Given the description of an element on the screen output the (x, y) to click on. 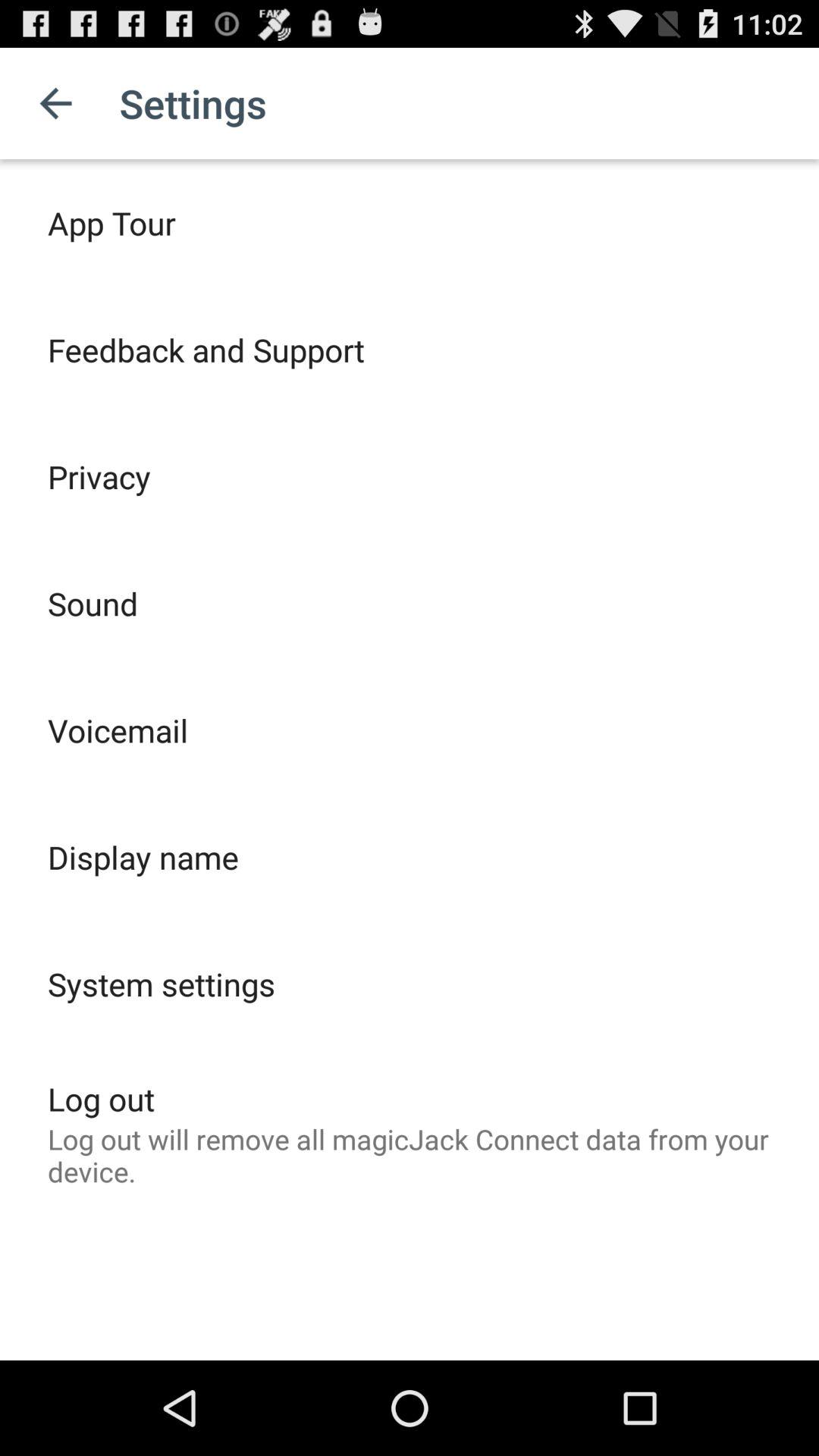
tap the app below app tour item (205, 349)
